Given the description of an element on the screen output the (x, y) to click on. 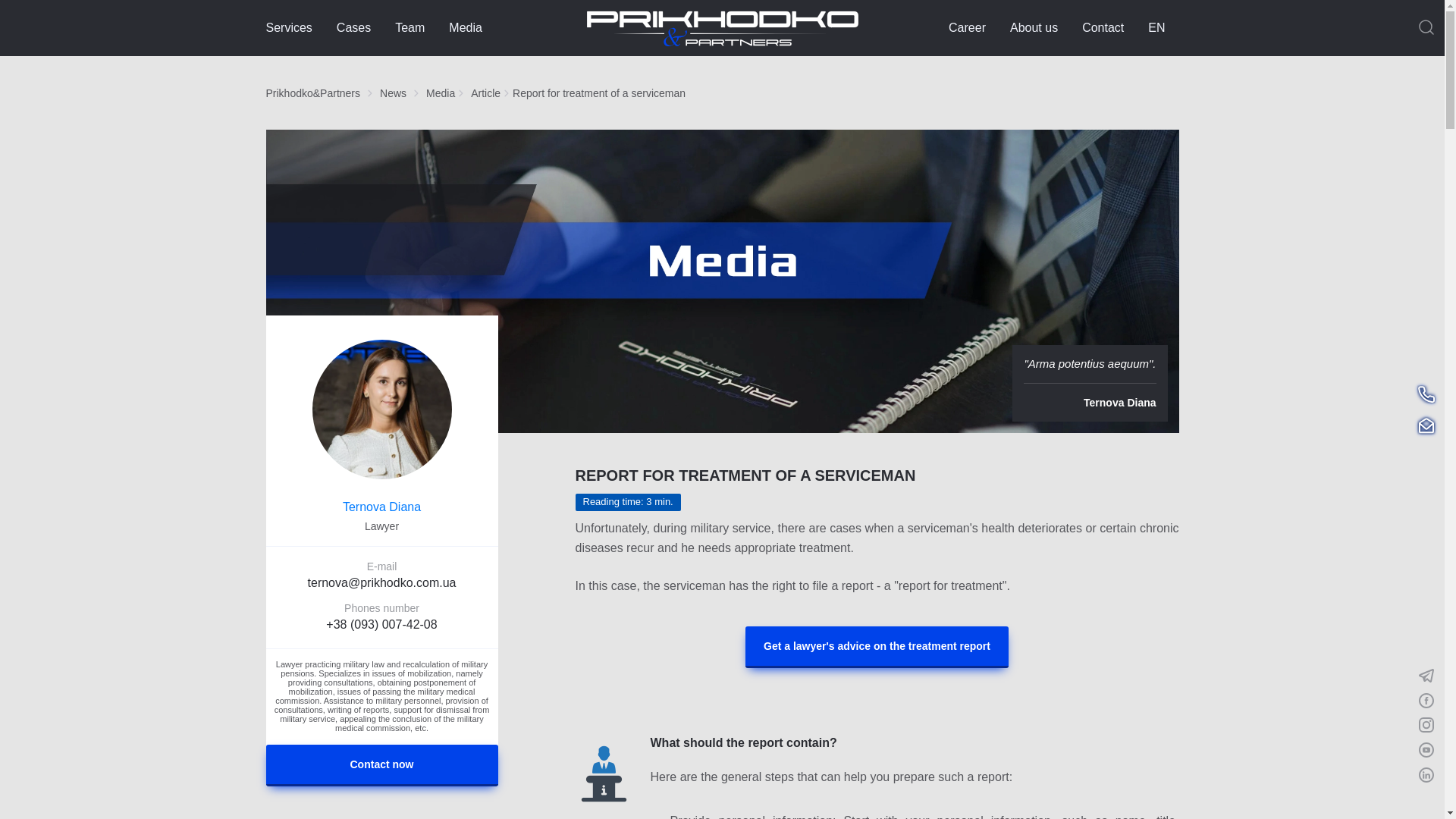
Contact (1102, 27)
About us (1034, 27)
News (393, 92)
Get a lawyer's advice on the treatment report (877, 647)
Contact now (380, 765)
Article (485, 92)
Team (409, 27)
Services (287, 27)
Ternova Diana (381, 506)
EN (1162, 27)
